Given the description of an element on the screen output the (x, y) to click on. 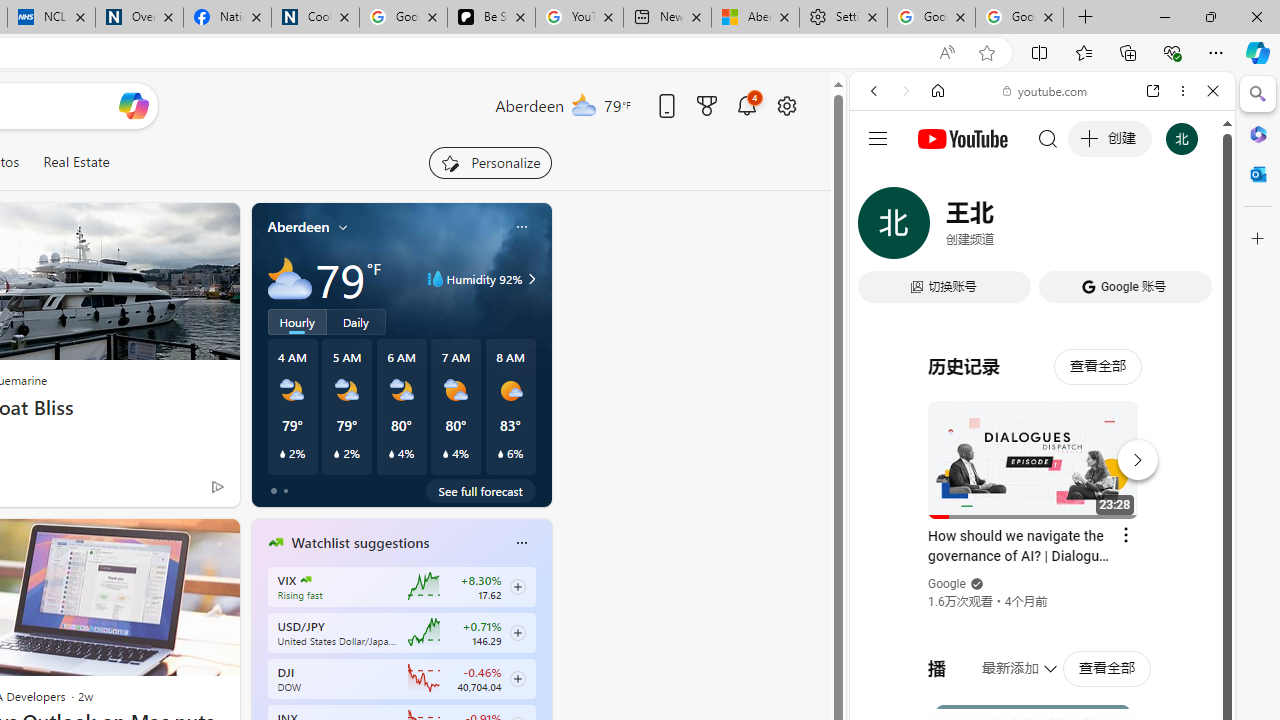
Search videos from youtube.com (1005, 657)
SEARCH TOOLS (1093, 228)
Watchlist suggestions (360, 543)
Search (1258, 94)
Hide this story (178, 542)
Open Copilot (132, 105)
Real Estate (76, 161)
This site scope (936, 180)
Show More Music (1164, 546)
VIDEOS (1006, 228)
My location (343, 227)
